Given the description of an element on the screen output the (x, y) to click on. 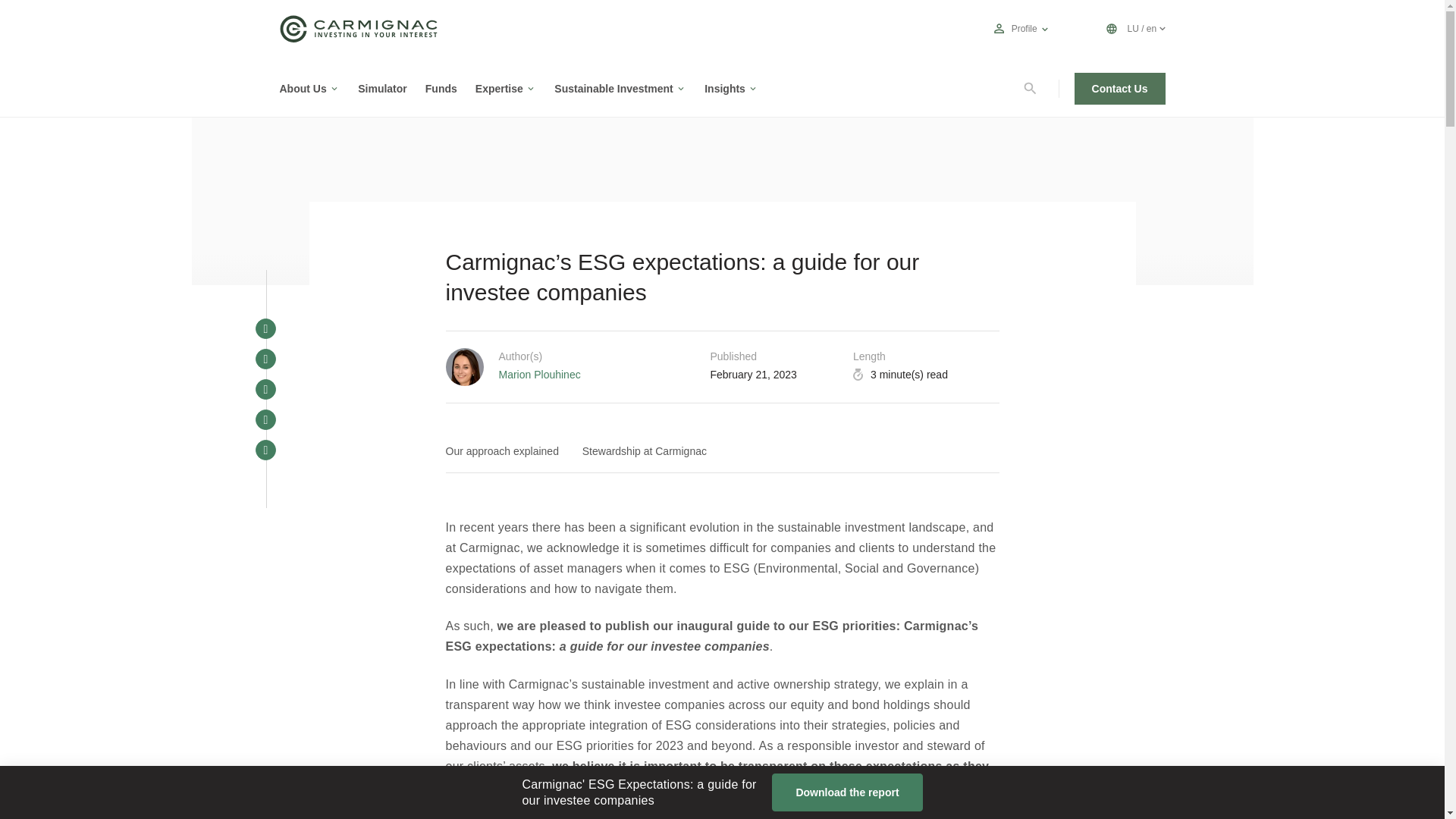
Expertise (499, 87)
Our approach explained (506, 451)
Stewardship at Carmignac (649, 451)
Profile (1023, 28)
Go to Home Page (357, 38)
About Us (302, 87)
Sustainable Investment (613, 87)
Insights (724, 87)
